Given the description of an element on the screen output the (x, y) to click on. 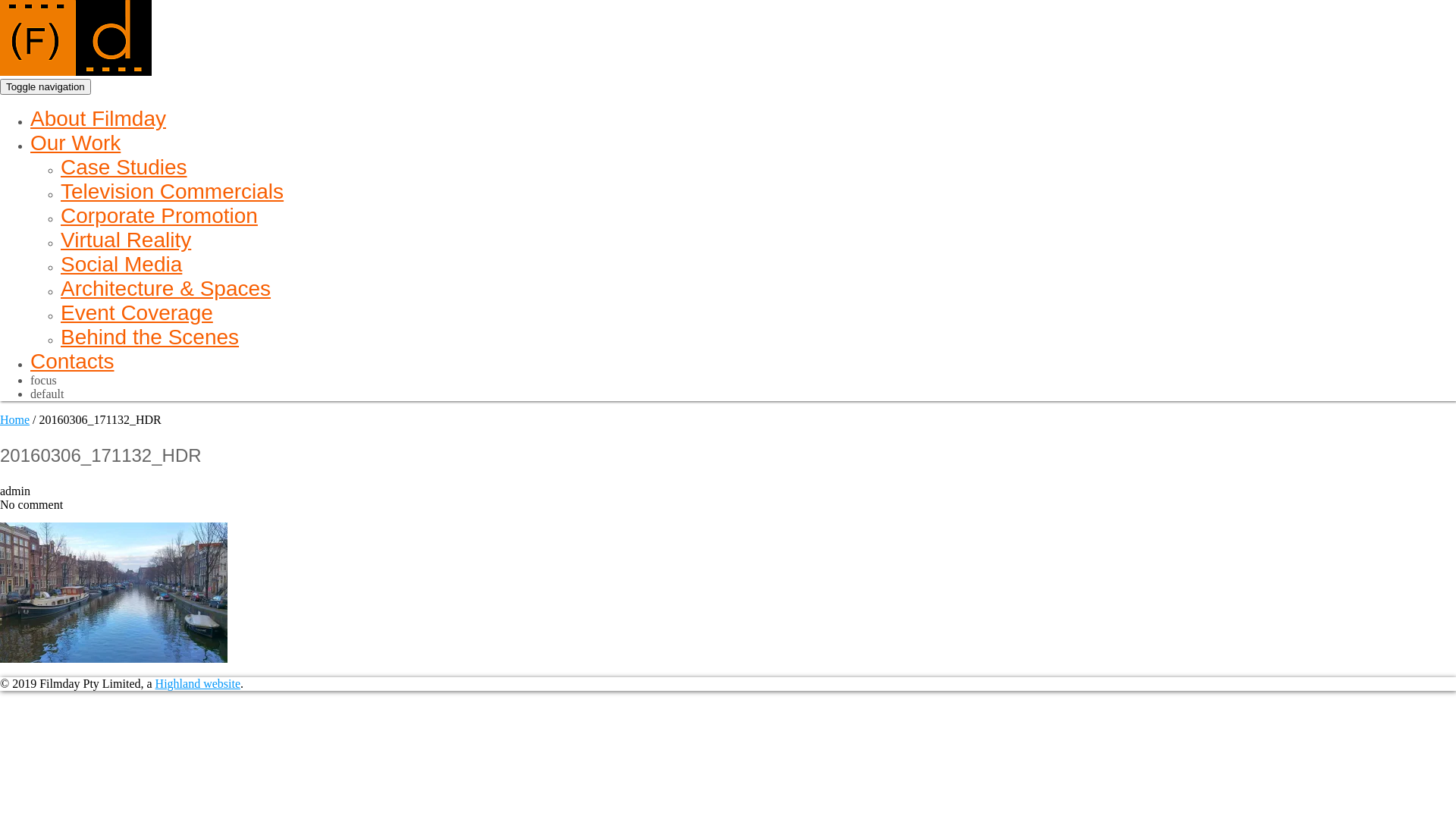
Home Element type: text (14, 419)
Event Coverage Element type: text (136, 312)
Our Work Element type: text (75, 142)
Corporate Promotion Element type: text (158, 215)
Contacts Element type: text (72, 361)
About Filmday Element type: text (98, 118)
Television Commercials Element type: text (171, 191)
Virtual Reality Element type: text (125, 239)
Architecture & Spaces Element type: text (165, 288)
Highland website Element type: text (197, 683)
Behind the Scenes Element type: text (149, 336)
Toggle navigation Element type: text (45, 86)
Social Media Element type: text (121, 264)
Case Studies Element type: text (123, 166)
